Given the description of an element on the screen output the (x, y) to click on. 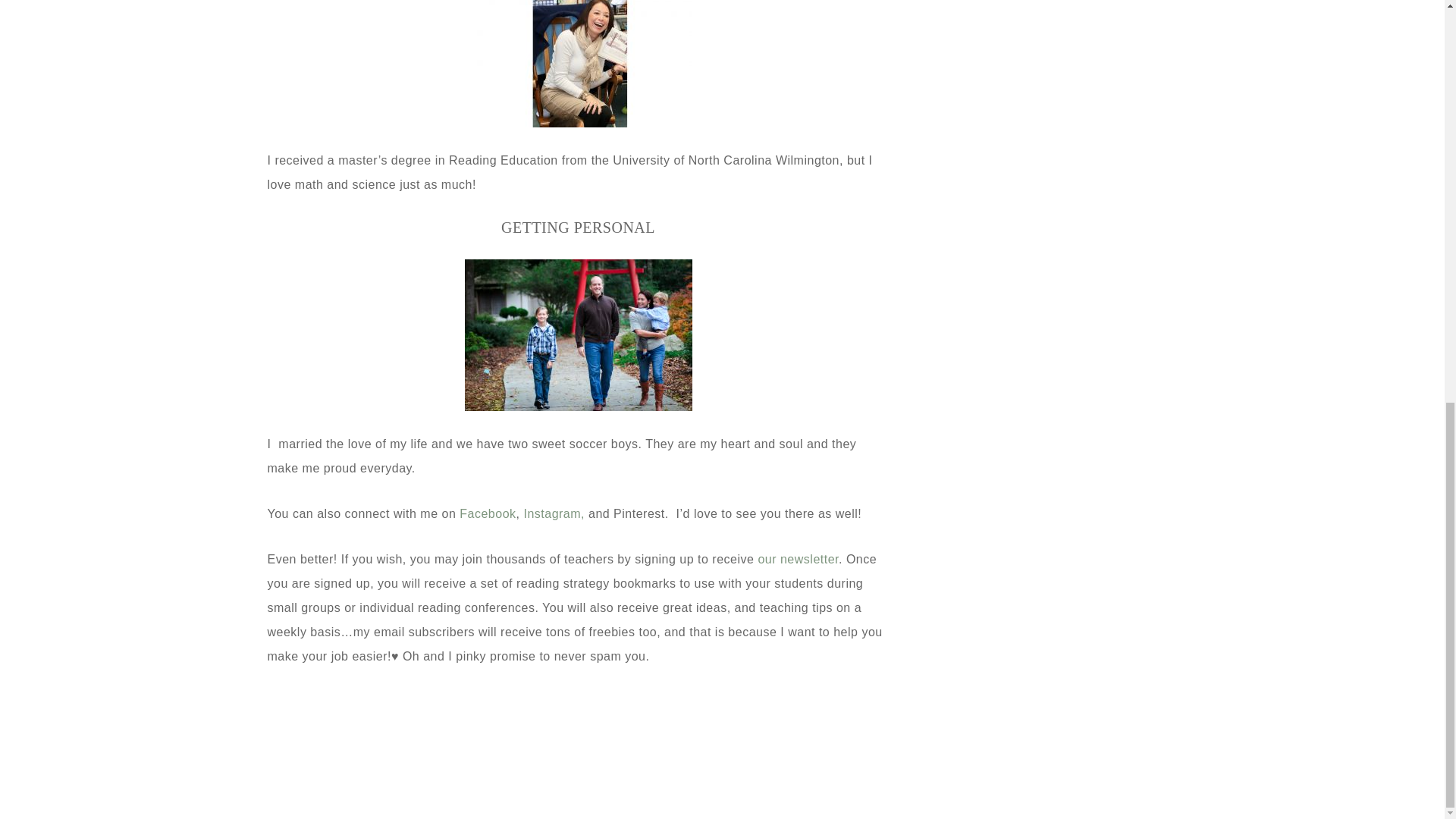
our newsletter (796, 558)
Instagram, (553, 513)
Facebook (487, 513)
